Given the description of an element on the screen output the (x, y) to click on. 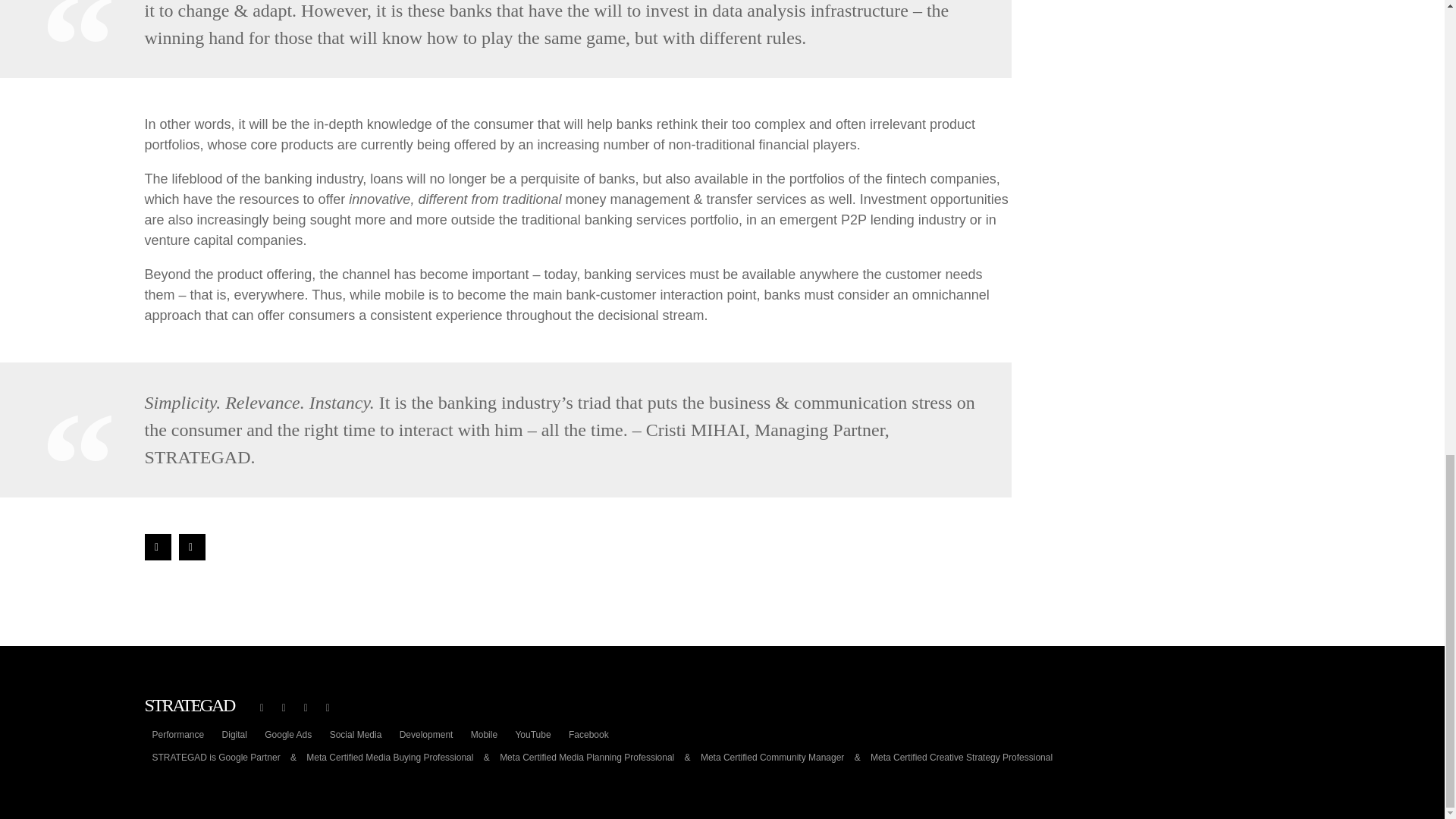
Digital Marketing (234, 734)
Meta Certified Media Planning Professional (586, 757)
Digital (234, 734)
Meta Certified Community Manager (772, 757)
Mobile Marketing (484, 734)
Development (426, 734)
Share on Facebook (157, 546)
Meta Certified Creative Strategy Professional (961, 757)
Share on Twitter (192, 546)
STRATEGAD on Twitter (284, 707)
STRATEGAD on Facebook (260, 707)
STRATEGAD on LinkedIN (327, 707)
STRATEGAD is Google Partner (215, 757)
YouTube Marketing (531, 734)
Social Media Marketing (355, 734)
